Given the description of an element on the screen output the (x, y) to click on. 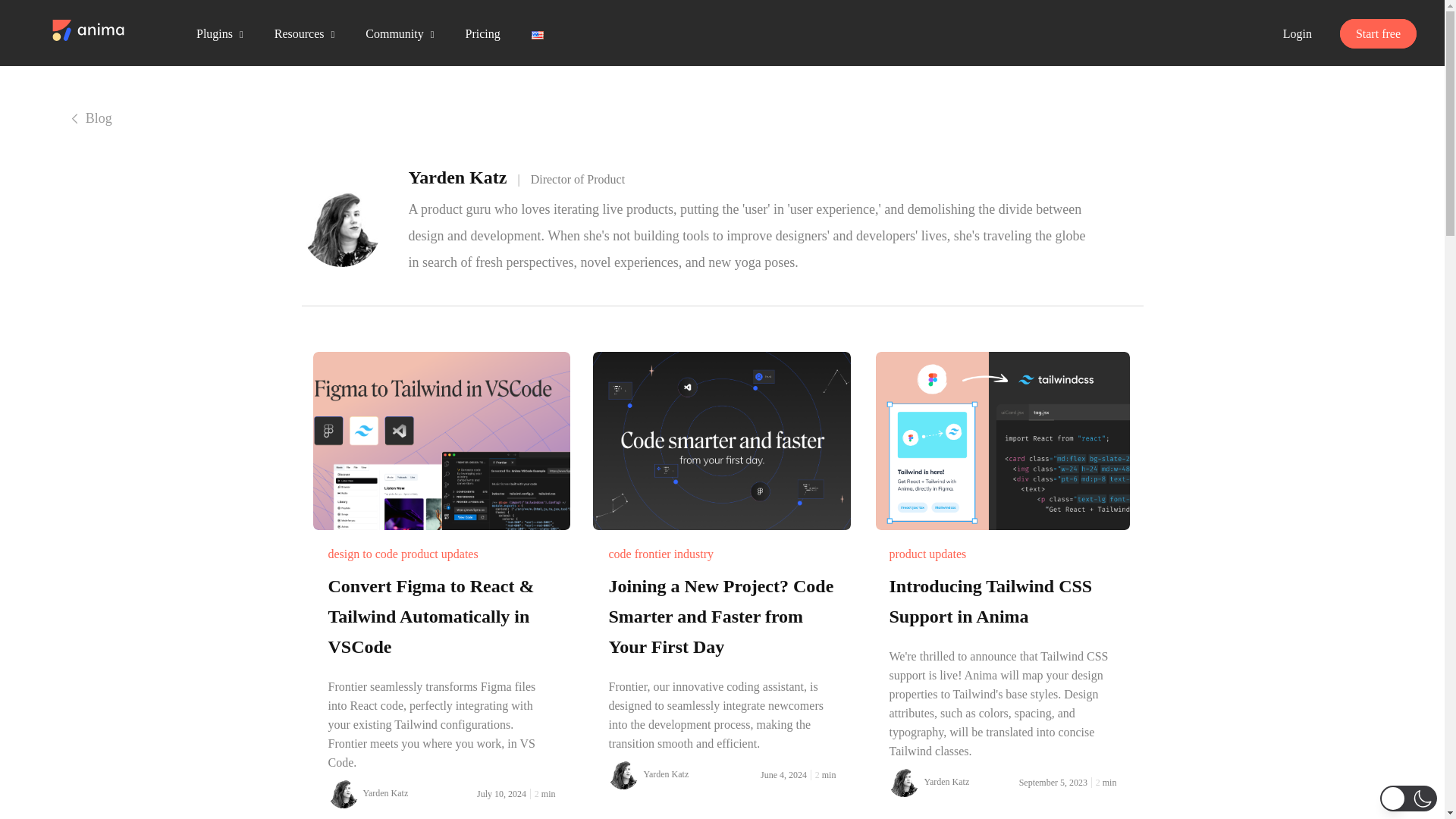
Product Updates (440, 553)
Product Updates (927, 553)
Login (1296, 33)
Posts by Yarden Katz (946, 781)
Industry (693, 553)
Posts by Yarden Katz (665, 774)
Pricing (481, 33)
Design to code (362, 553)
Code (619, 553)
Anima Blog (88, 28)
